Given the description of an element on the screen output the (x, y) to click on. 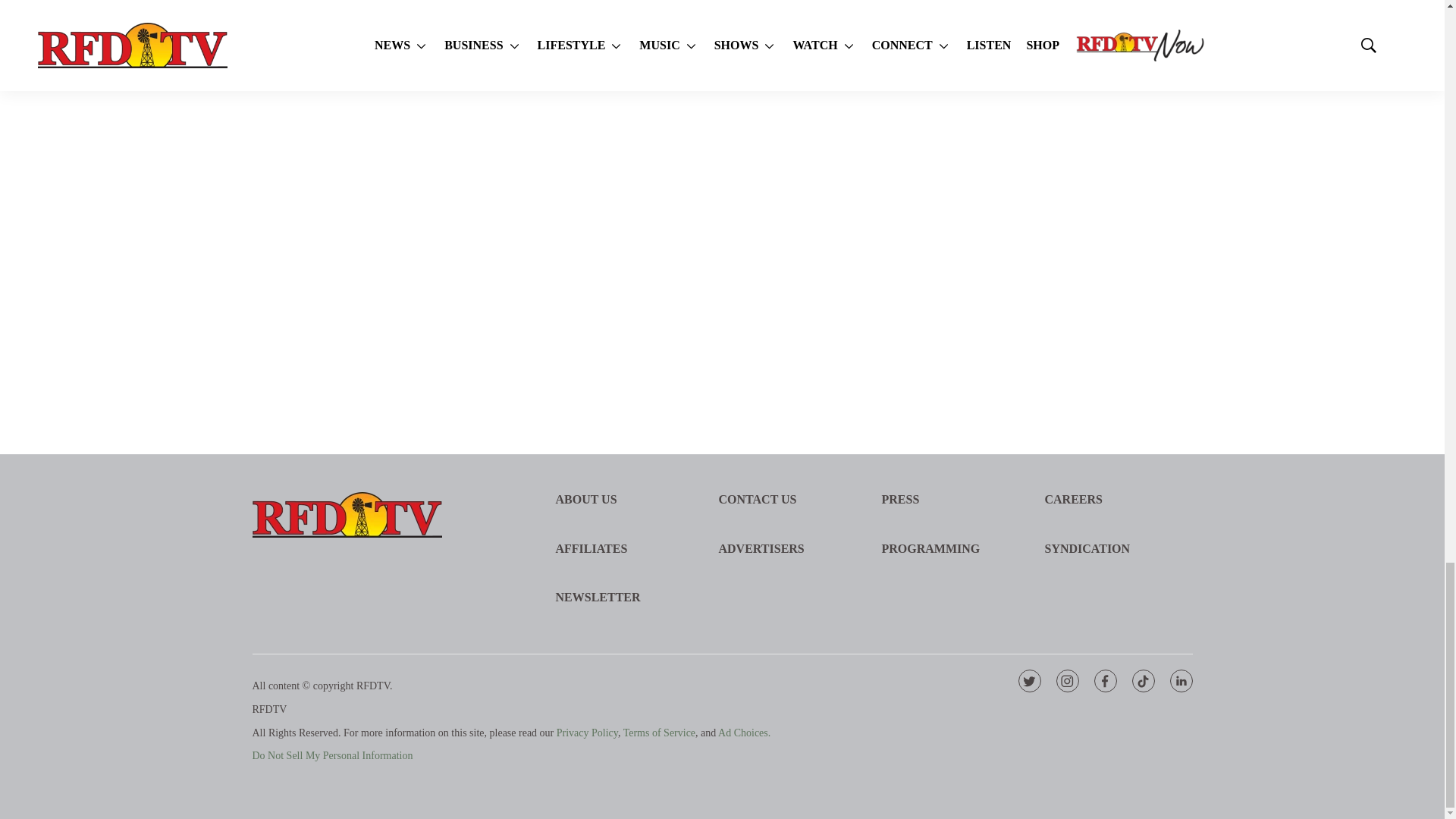
Signup Widget Embed (1070, 174)
